Given the description of an element on the screen output the (x, y) to click on. 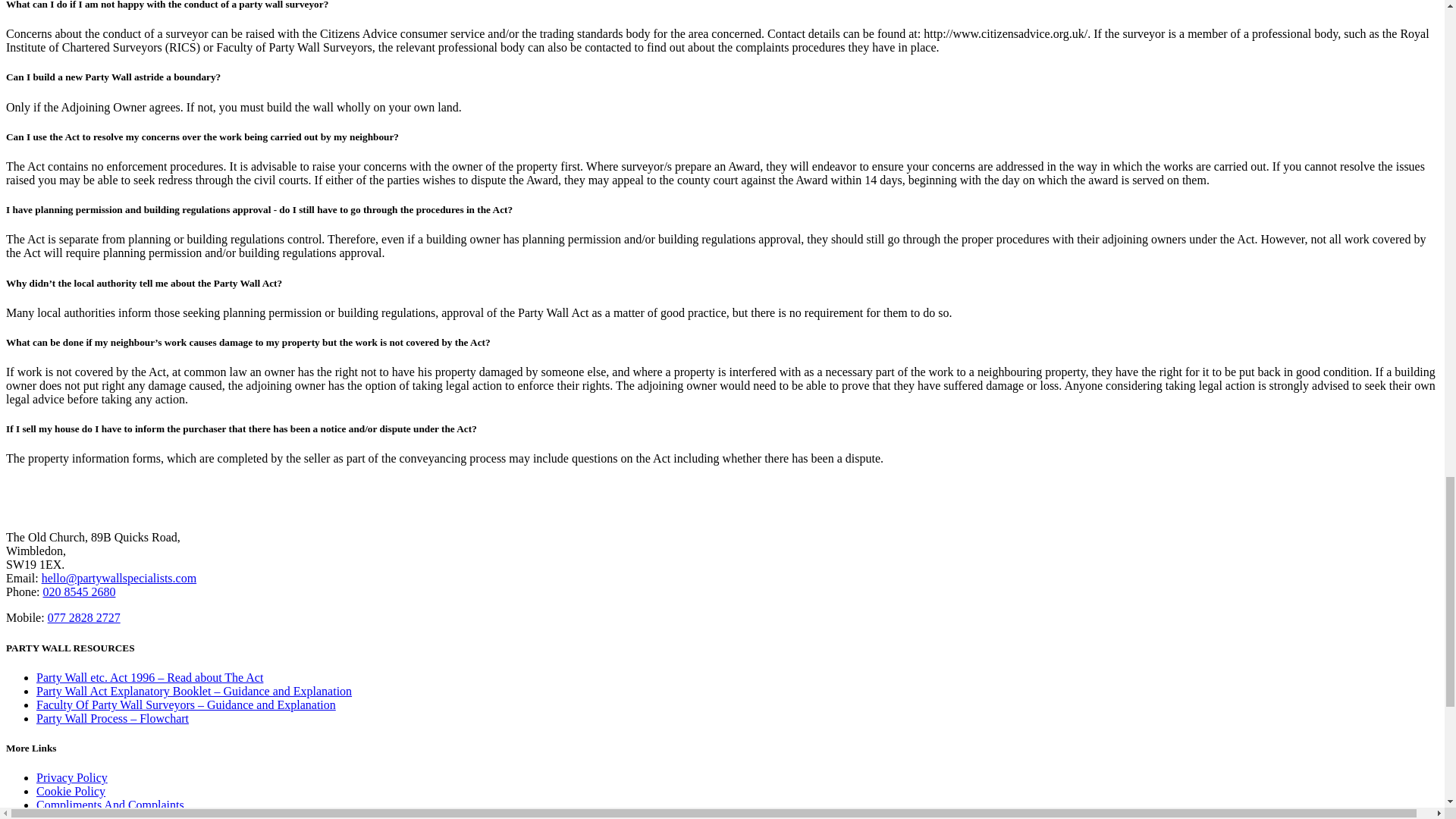
020 8545 2680 (78, 591)
Cookie Policy (70, 790)
Privacy Policy (71, 777)
077 2828 2727 (84, 617)
Compliments And Complaints (110, 804)
